Given the description of an element on the screen output the (x, y) to click on. 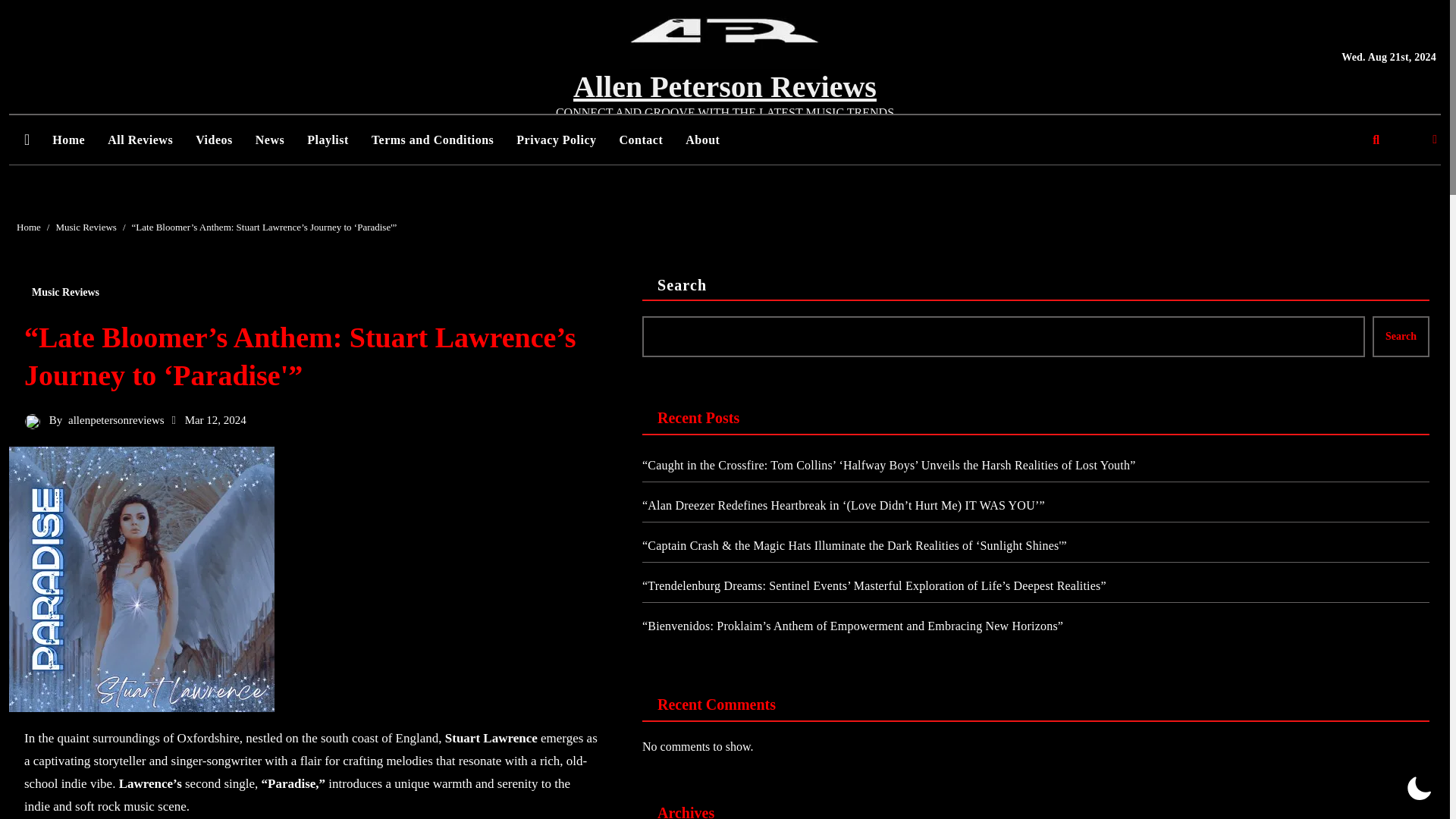
Contact (641, 139)
Terms and Conditions (432, 139)
Terms and Conditions (432, 139)
Playlist (327, 139)
About (702, 139)
allenpetersonreviews (116, 419)
Music Reviews (85, 226)
News (269, 139)
Music Reviews (65, 292)
Playlist (327, 139)
